Given the description of an element on the screen output the (x, y) to click on. 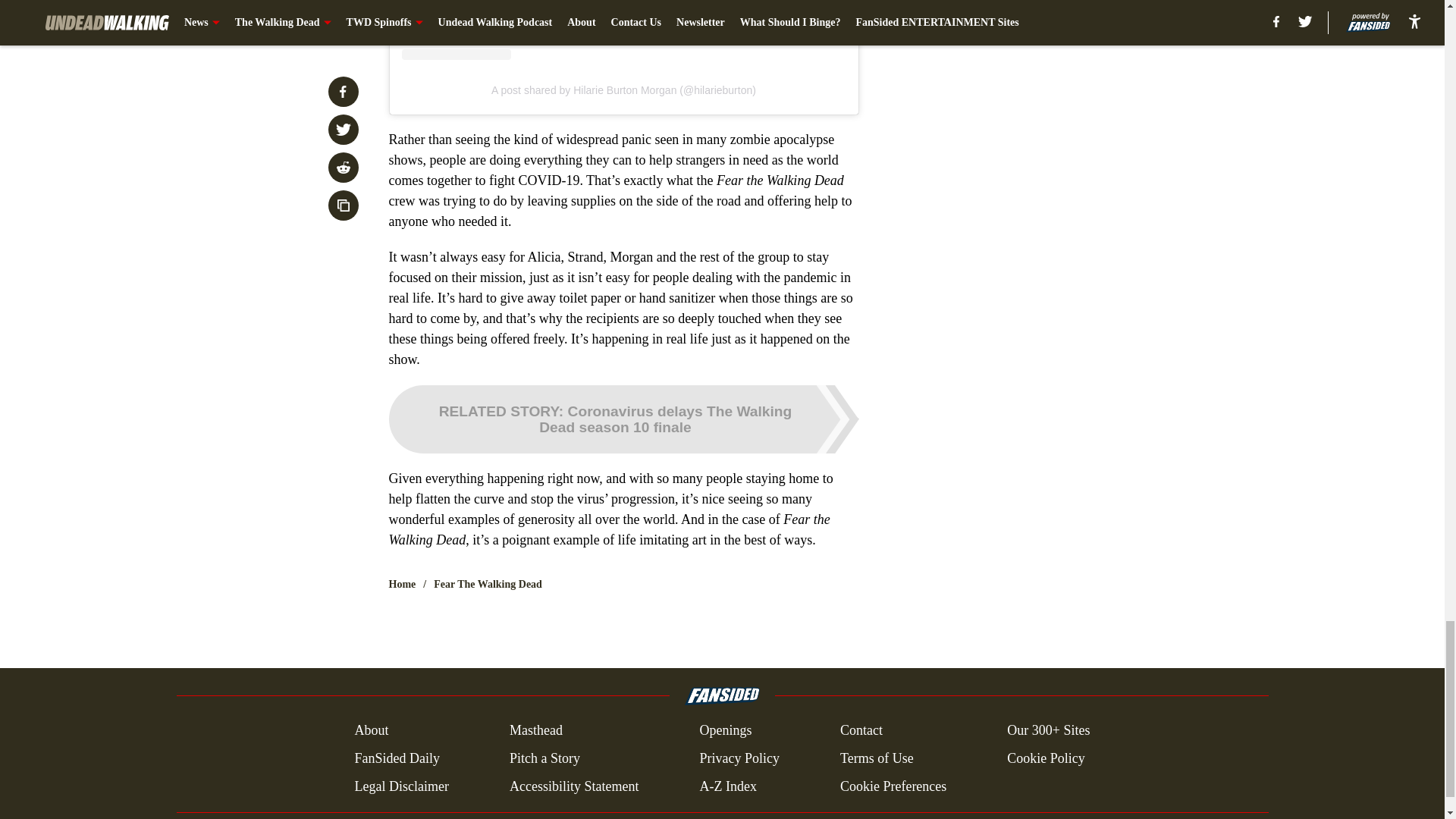
Fear The Walking Dead (487, 584)
View this post on Instagram (623, 29)
Home (401, 584)
About (370, 730)
